Given the description of an element on the screen output the (x, y) to click on. 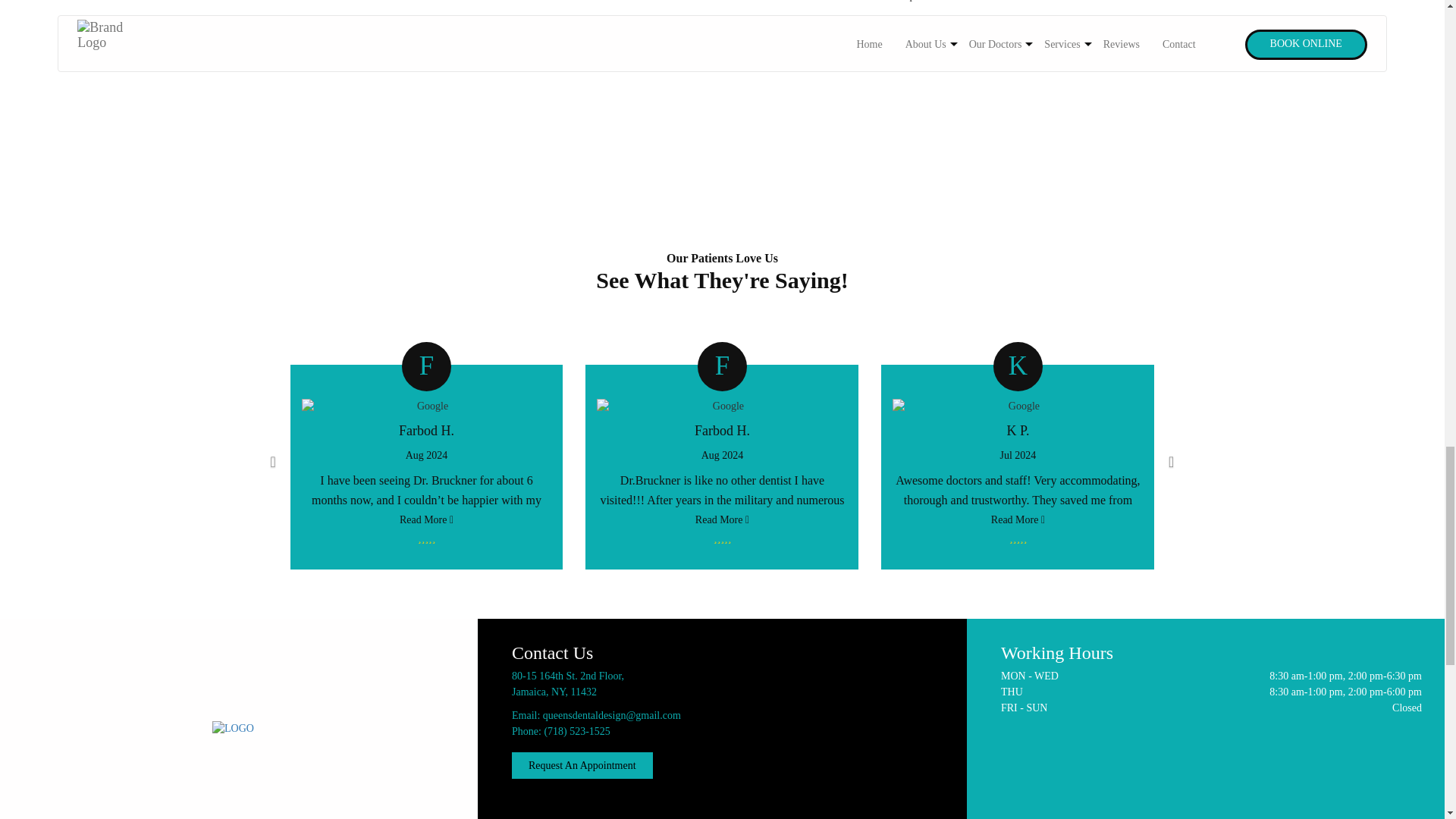
image of the doctor David Bruckner (541, 62)
Google (426, 406)
Google (721, 406)
Google (1017, 406)
image of the doctor Tracy Phillips (902, 62)
